Given the description of an element on the screen output the (x, y) to click on. 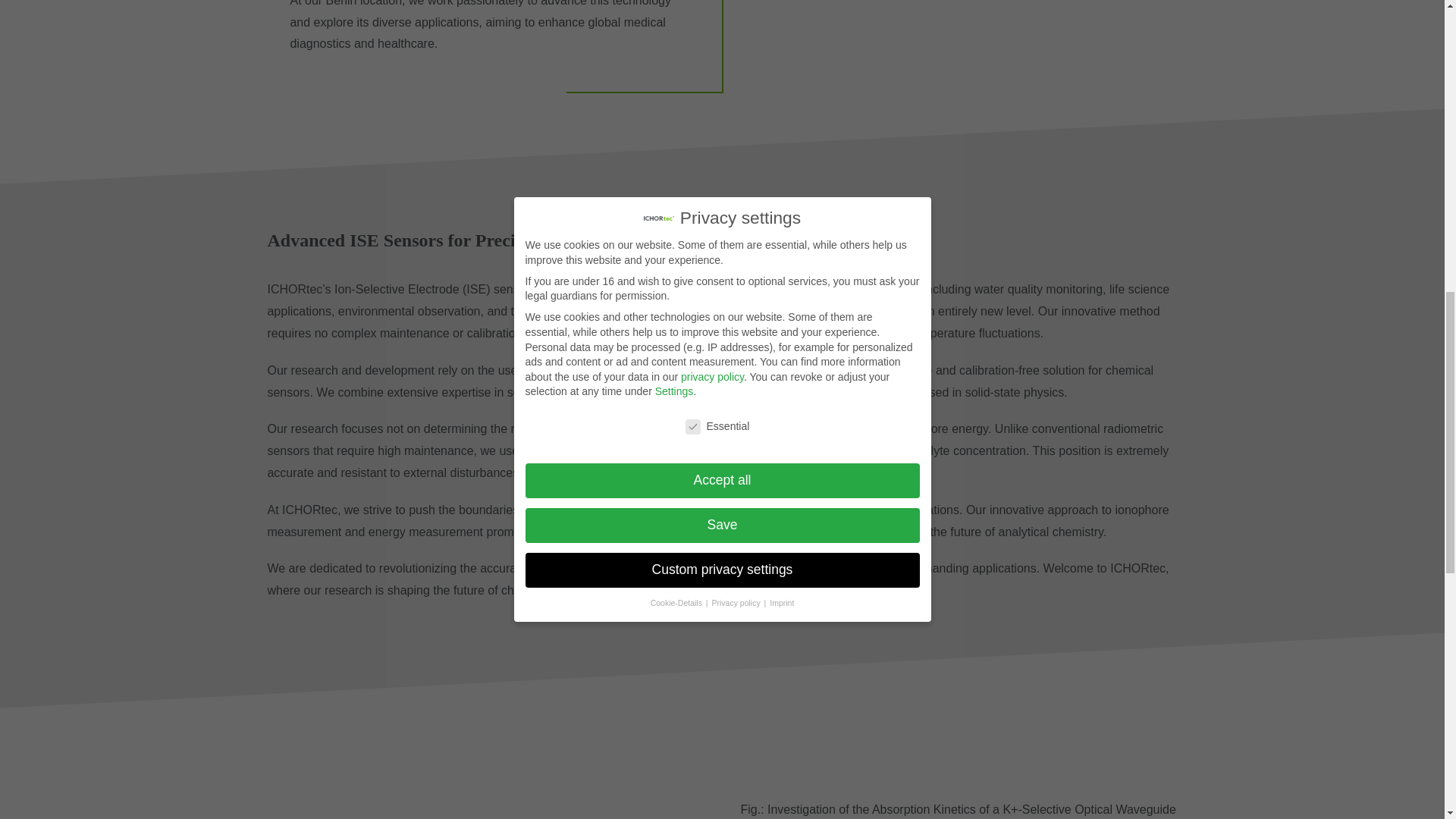
1EA3FF86-1B33-4C45-A752-A834AED46329 (485, 782)
